Given the description of an element on the screen output the (x, y) to click on. 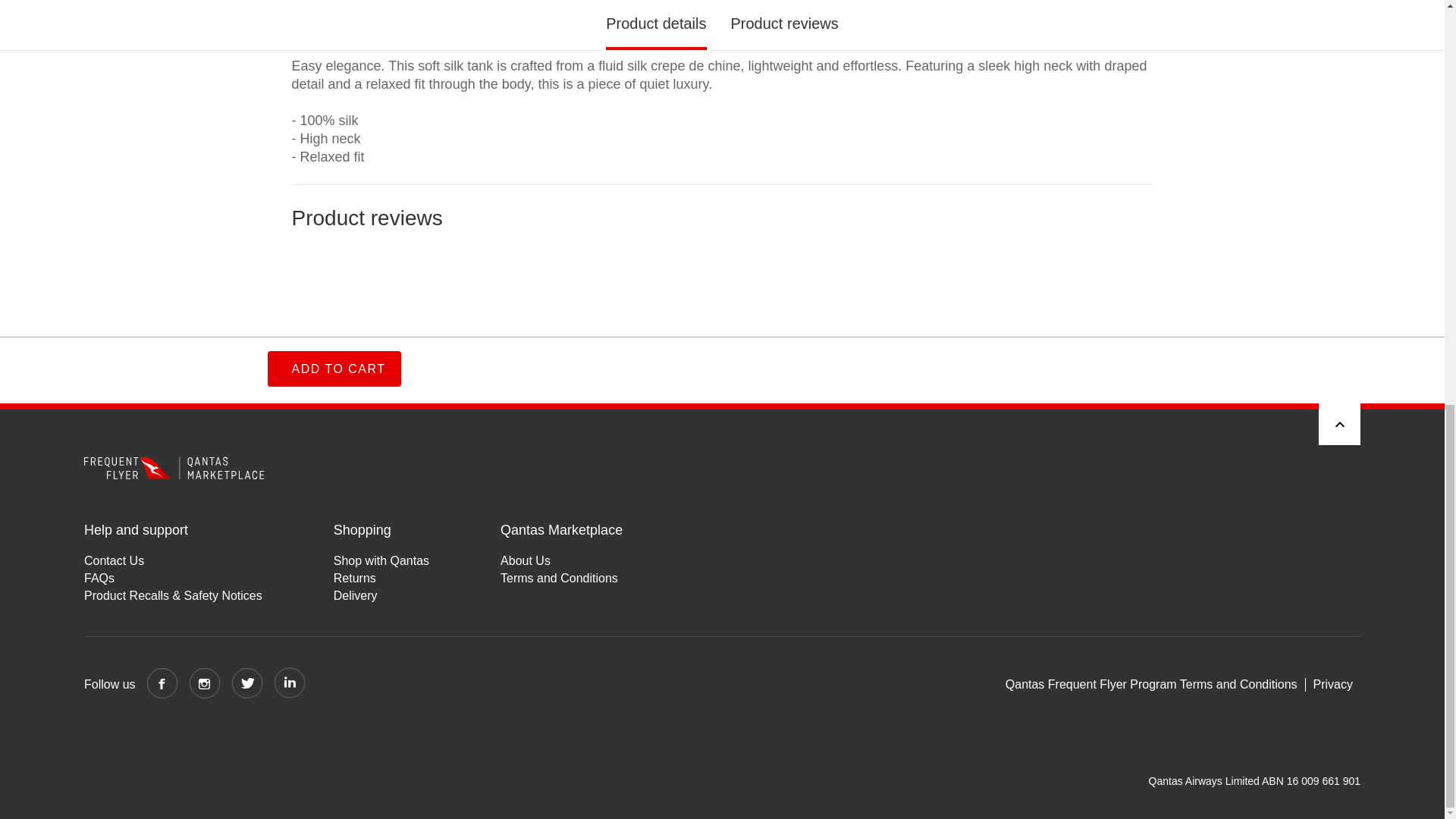
About Us (561, 560)
ADD TO CART (333, 0)
Returns (381, 578)
Terms and Conditions (561, 578)
Qantas Frequent Flyer Program Terms and Conditions (1156, 684)
FAQs (173, 578)
Product reviews (722, 269)
Delivery (381, 595)
Shop with Qantas (381, 560)
Contact Us (173, 560)
